Given the description of an element on the screen output the (x, y) to click on. 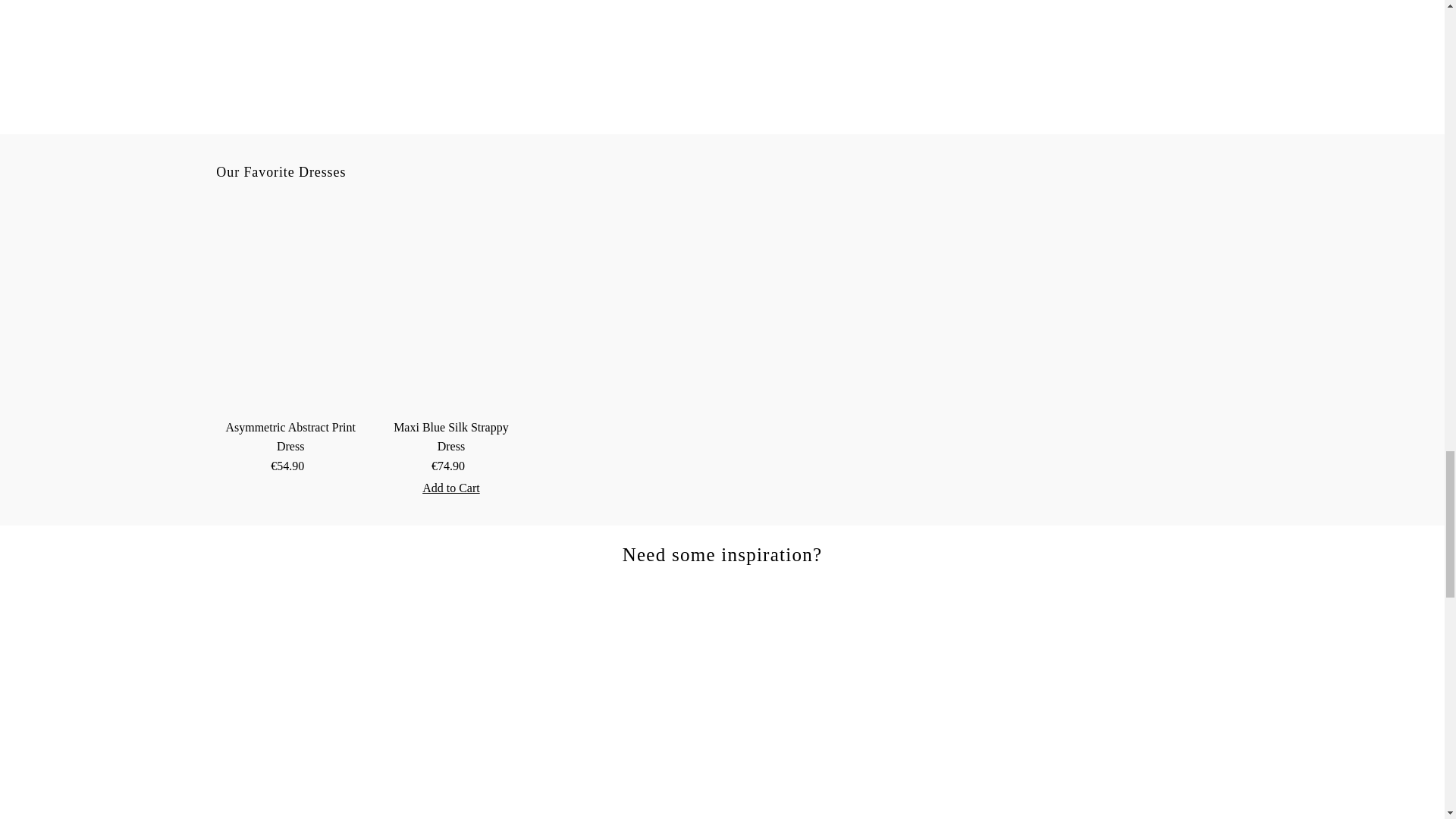
Add to Cart (450, 488)
